Given the description of an element on the screen output the (x, y) to click on. 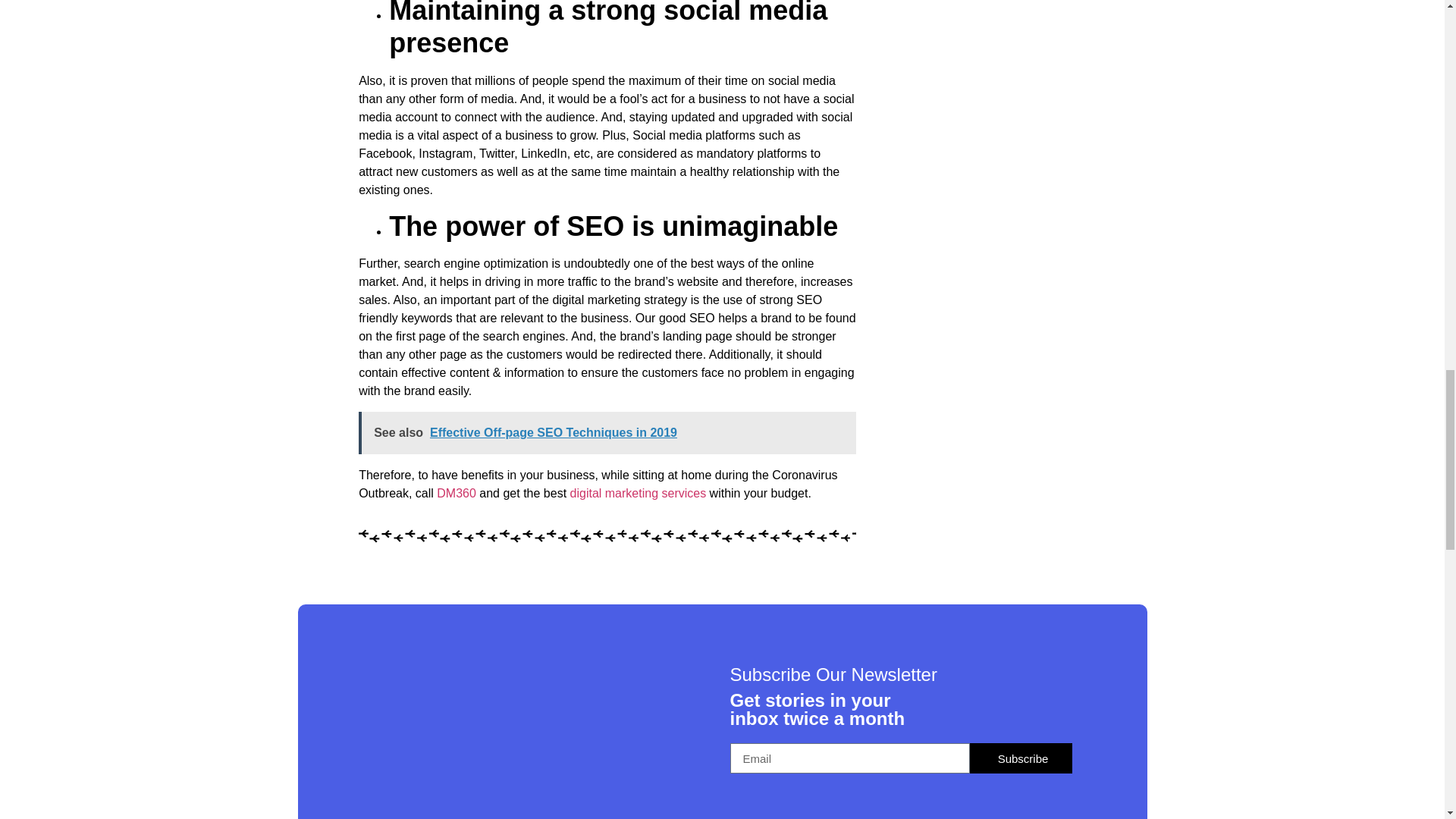
digital marketing services (638, 492)
See also  Effective Off-page SEO Techniques in 2019 (607, 432)
DM360 (456, 492)
